Given the description of an element on the screen output the (x, y) to click on. 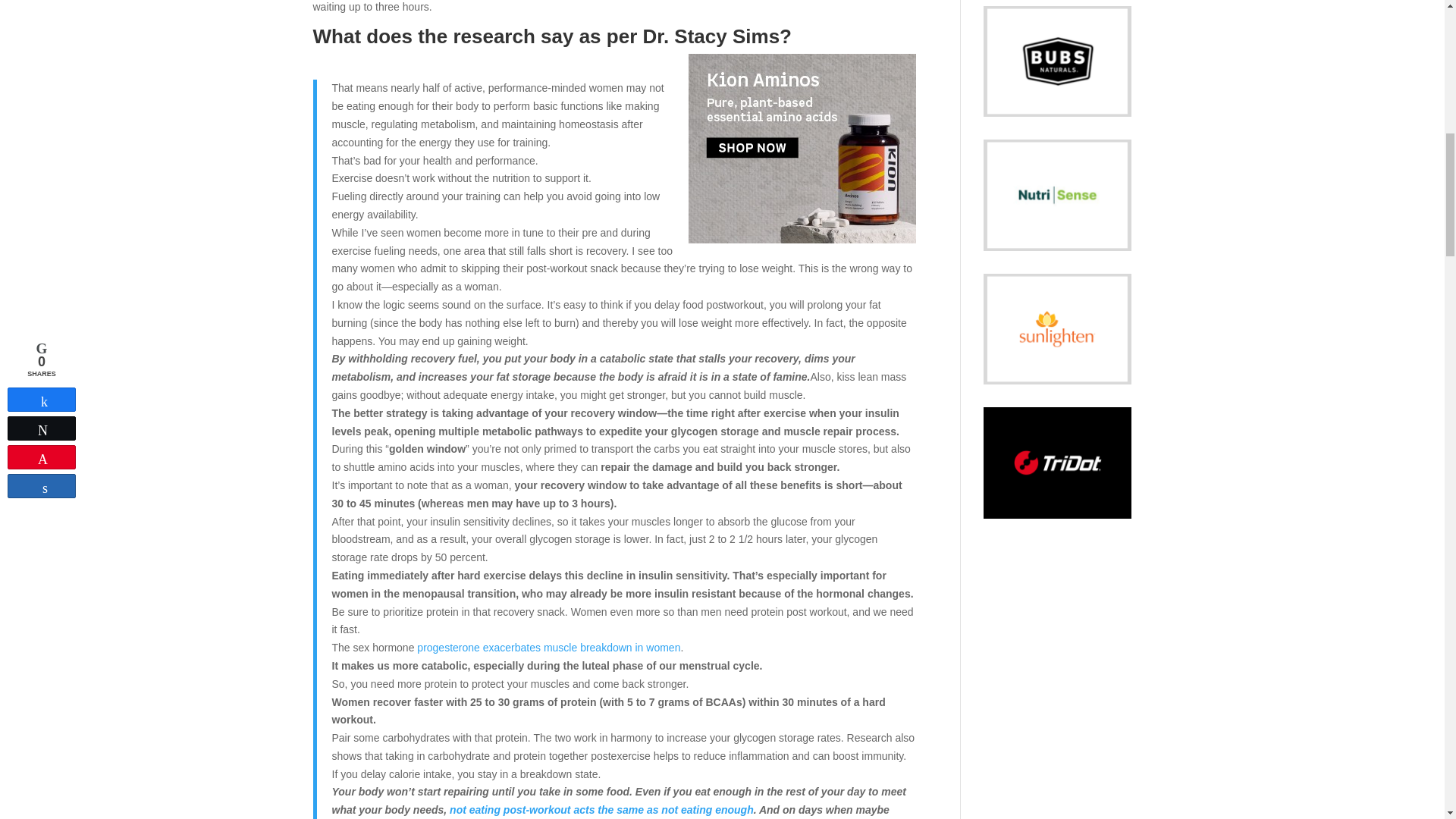
progesterone exacerbates muscle breakdown in women (547, 647)
not eating post-workout acts the same as not eating enough (601, 809)
